Given the description of an element on the screen output the (x, y) to click on. 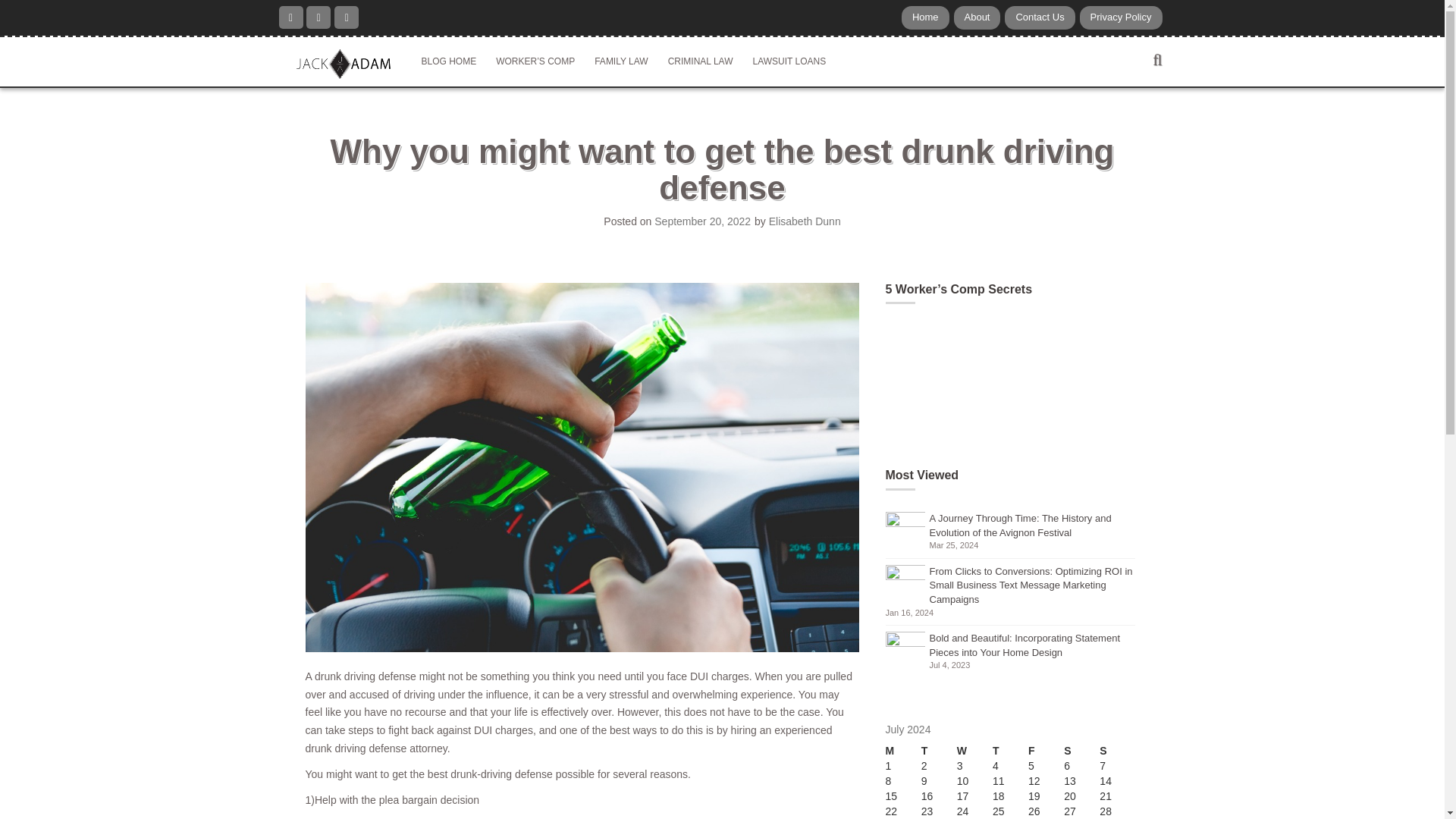
Privacy Policy (1120, 17)
LAWSUIT LOANS (788, 61)
Contact Us (1039, 17)
About (977, 17)
BLOG HOME (448, 61)
Saturday (1081, 751)
Elisabeth Dunn (804, 221)
Friday (1045, 751)
CRIMINAL LAW (700, 61)
Wednesday (974, 751)
Sunday (1117, 751)
Tuesday (938, 751)
September 20, 2022 (702, 221)
